Given the description of an element on the screen output the (x, y) to click on. 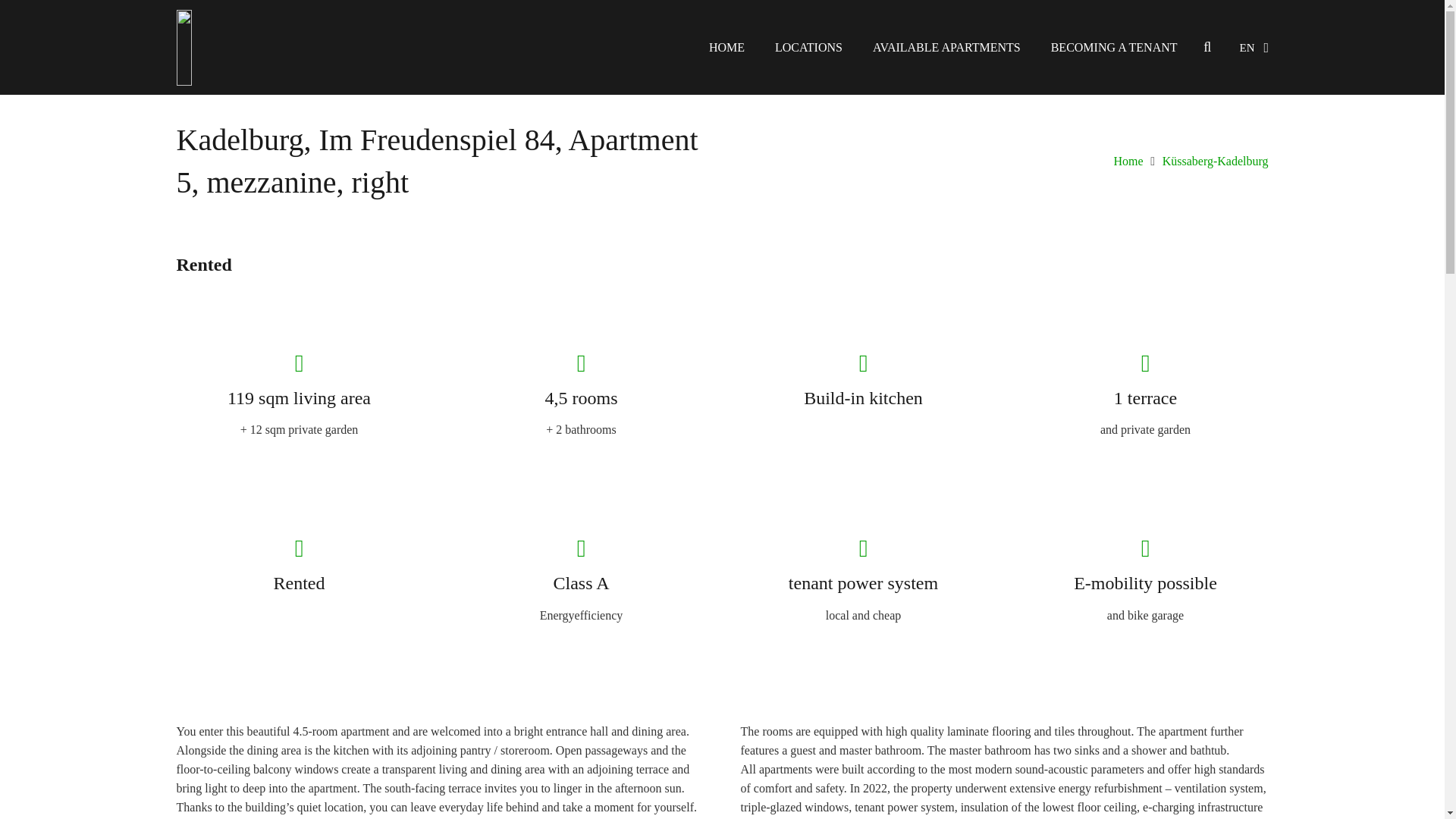
AVAILABLE APARTMENTS (946, 47)
Privacy Policy (1115, 784)
HOME (727, 47)
LOCATIONS (808, 47)
Legal notice (1032, 784)
EN (1253, 47)
Home (1127, 160)
Contact information (1219, 784)
BECOMING A TENANT (1113, 47)
